Given the description of an element on the screen output the (x, y) to click on. 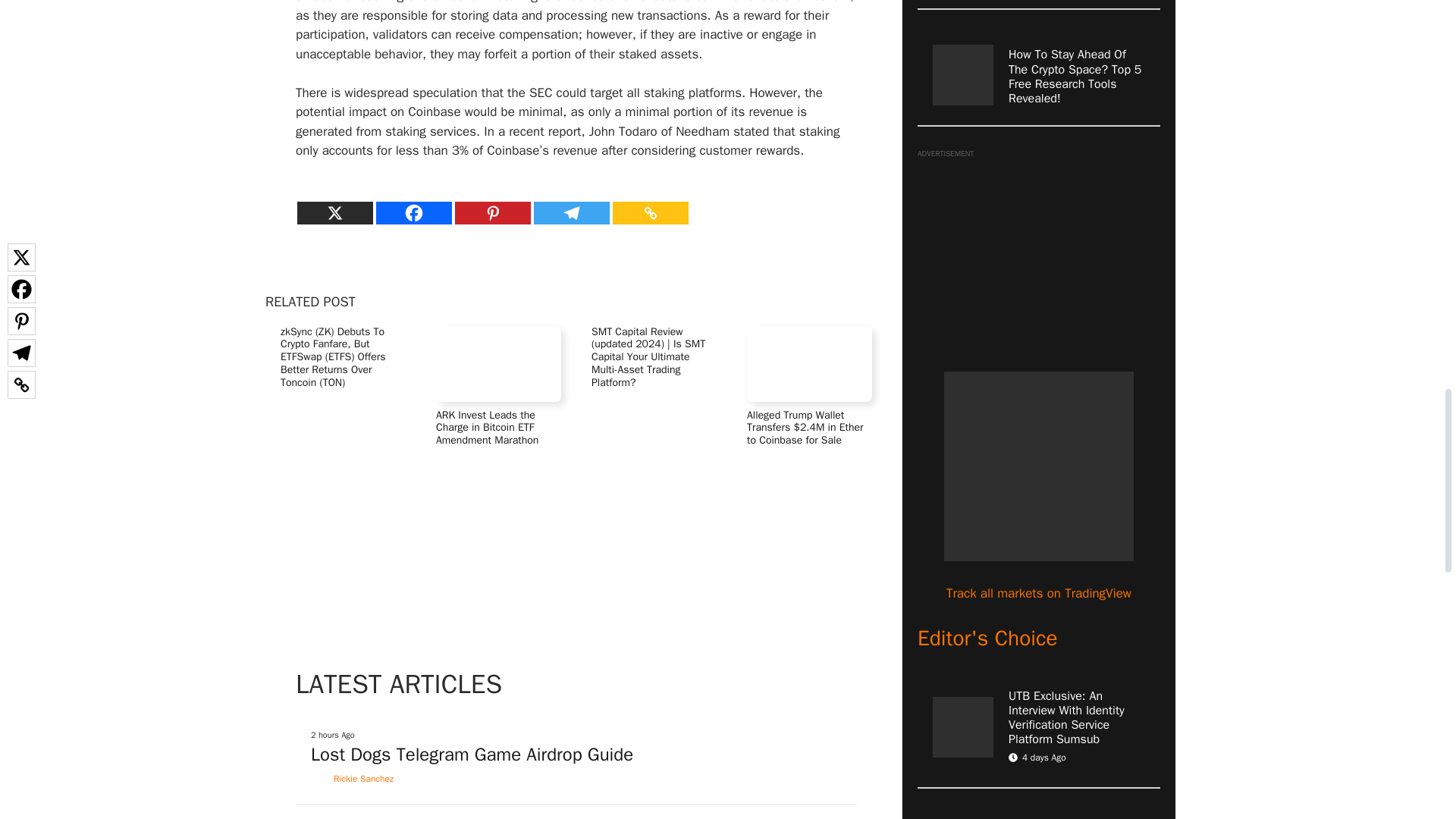
Facebook (413, 212)
Copy Link (650, 212)
Telegram (572, 212)
X (334, 212)
Pinterest (492, 212)
